Given the description of an element on the screen output the (x, y) to click on. 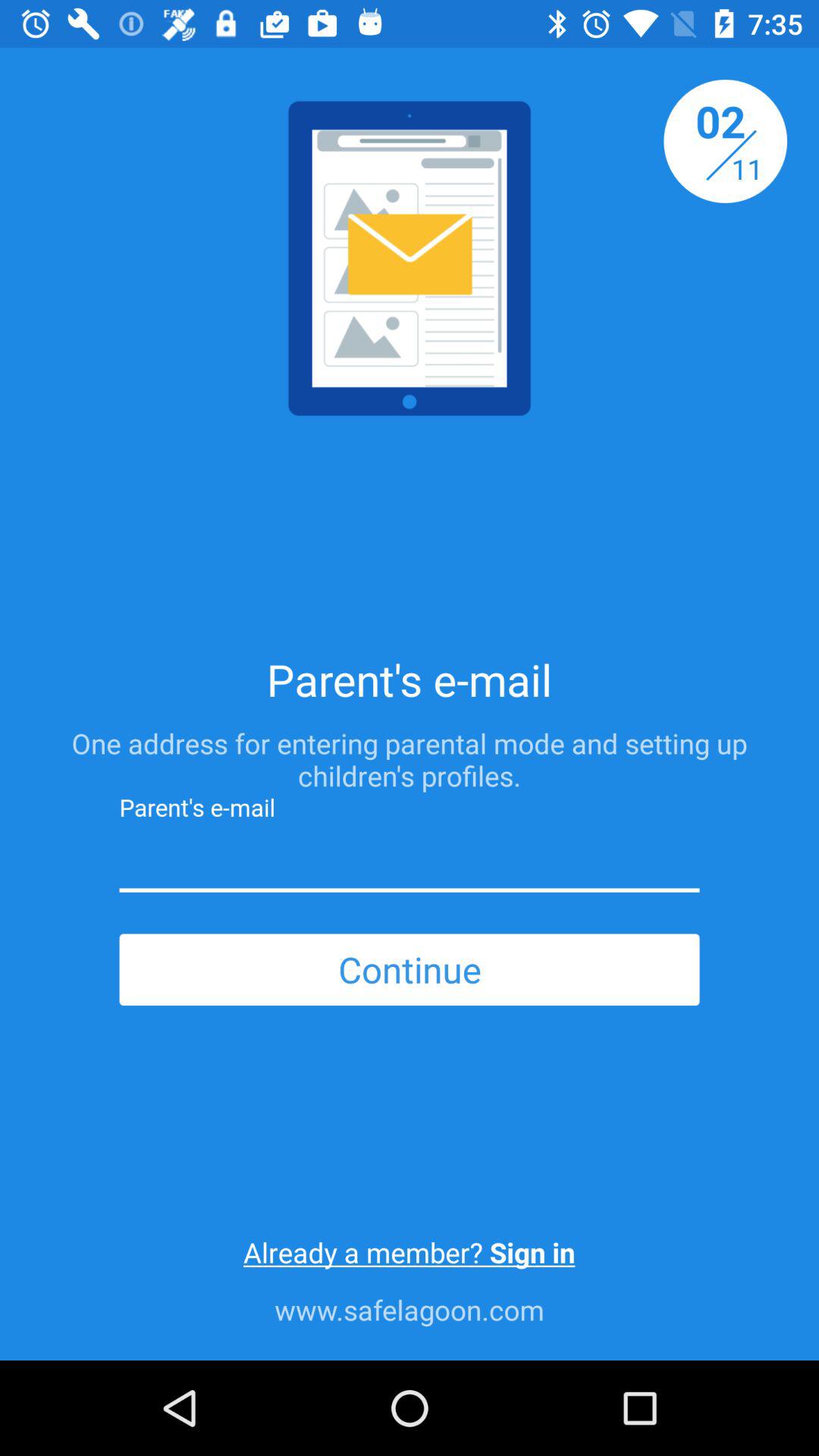
type your e-mail (409, 861)
